Given the description of an element on the screen output the (x, y) to click on. 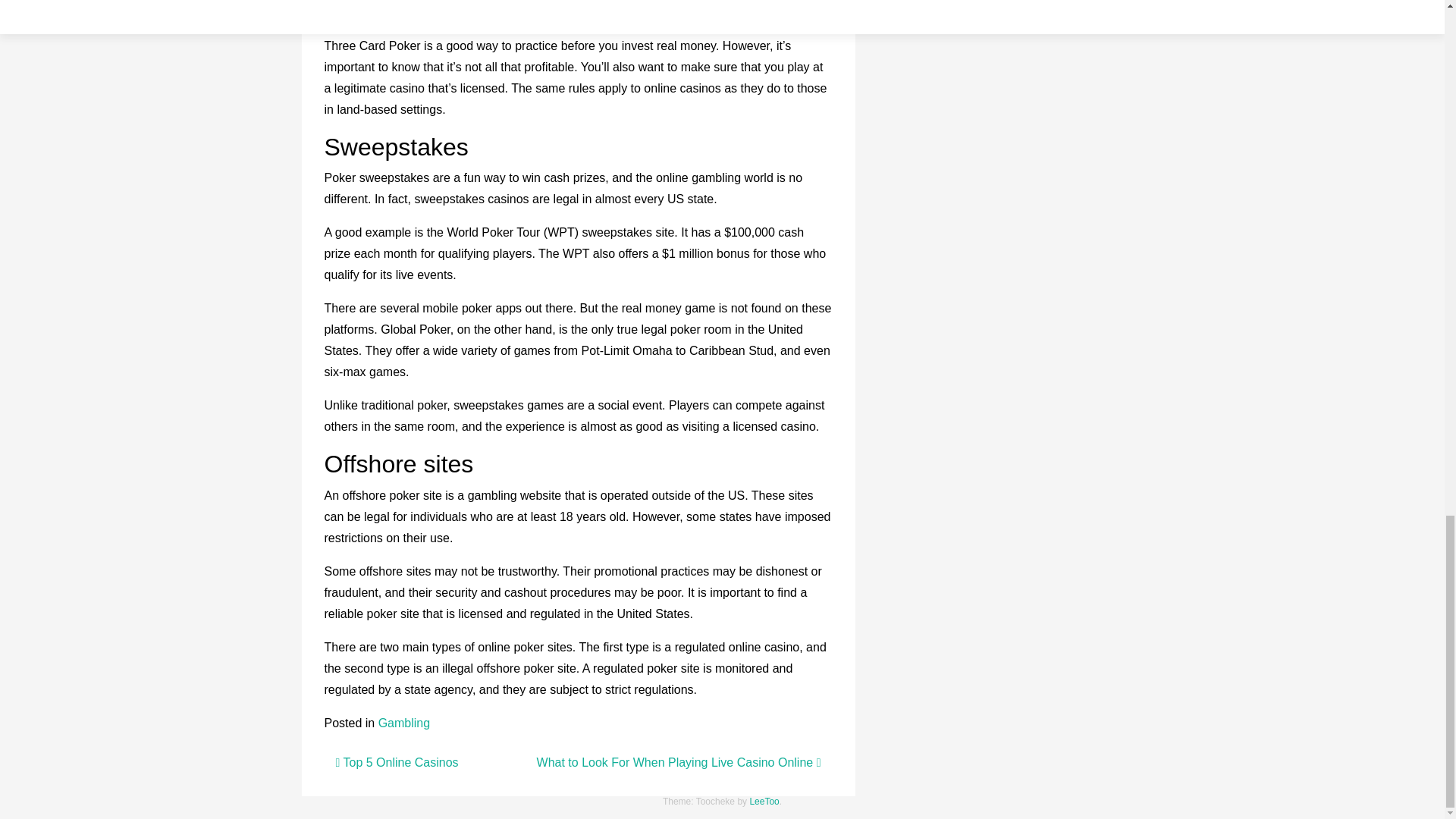
What to Look For When Playing Live Casino Online  (679, 762)
Gambling (403, 722)
 Top 5 Online Casinos (396, 762)
